Given the description of an element on the screen output the (x, y) to click on. 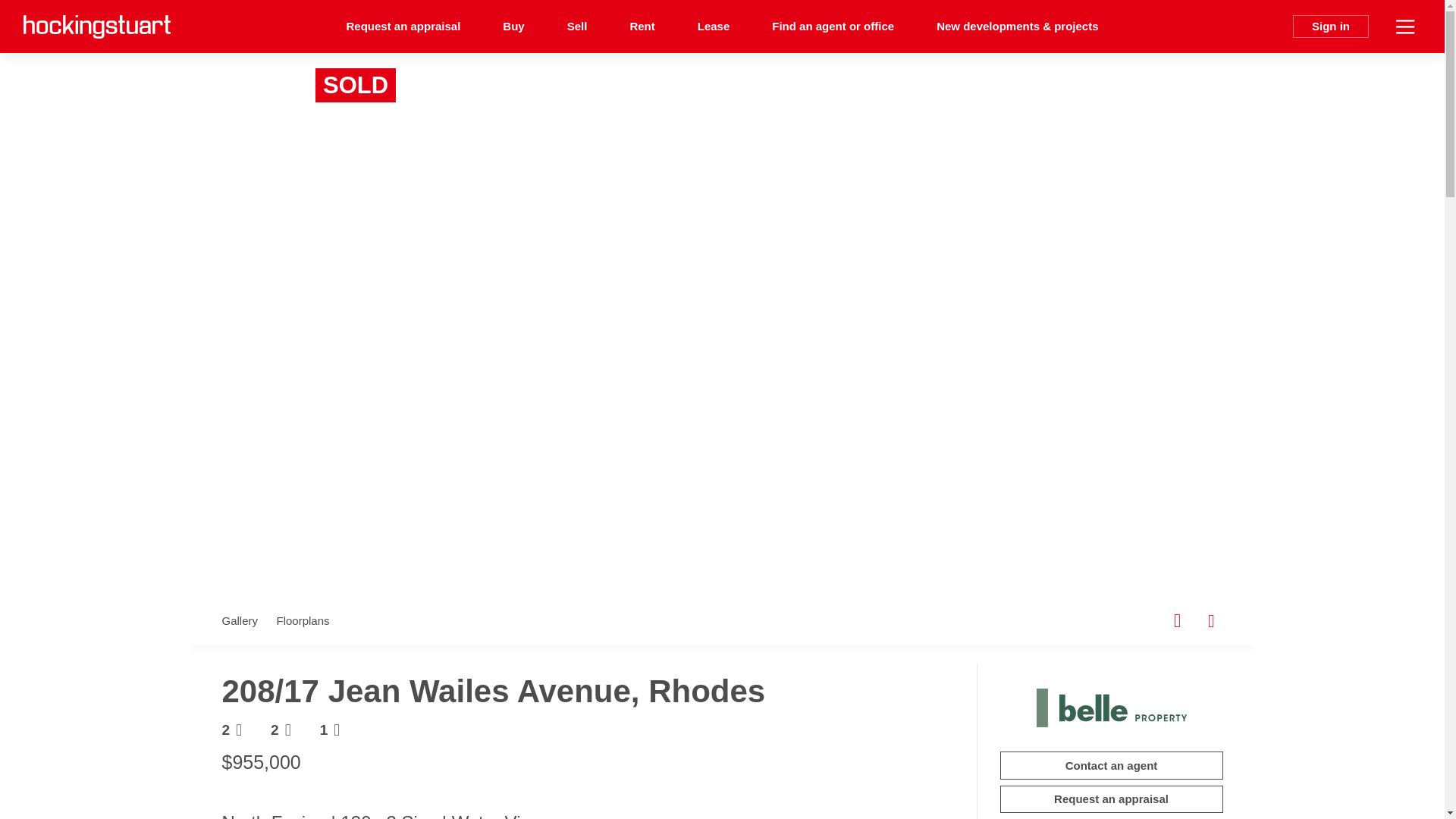
Find an agent or office (832, 26)
Lease (714, 26)
Request an appraisal (402, 26)
Rent (641, 26)
Sell (577, 26)
Buy (513, 26)
